Given the description of an element on the screen output the (x, y) to click on. 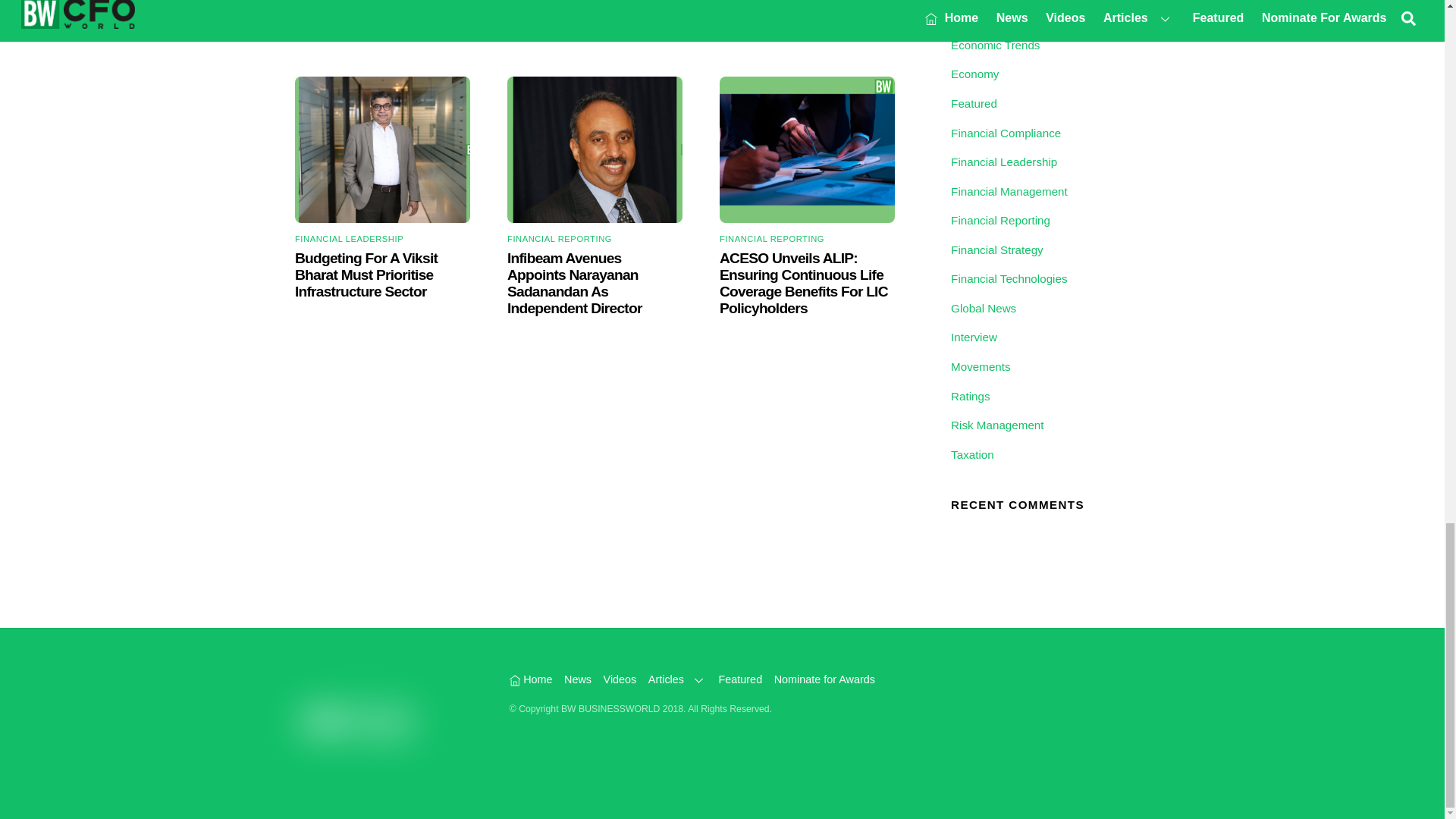
FINANCIAL LEADERSHIP (349, 238)
FINANCIAL REPORTING (558, 238)
FINANCIAL REPORTING (771, 238)
Harish Agarwal (382, 149)
